Given the description of an element on the screen output the (x, y) to click on. 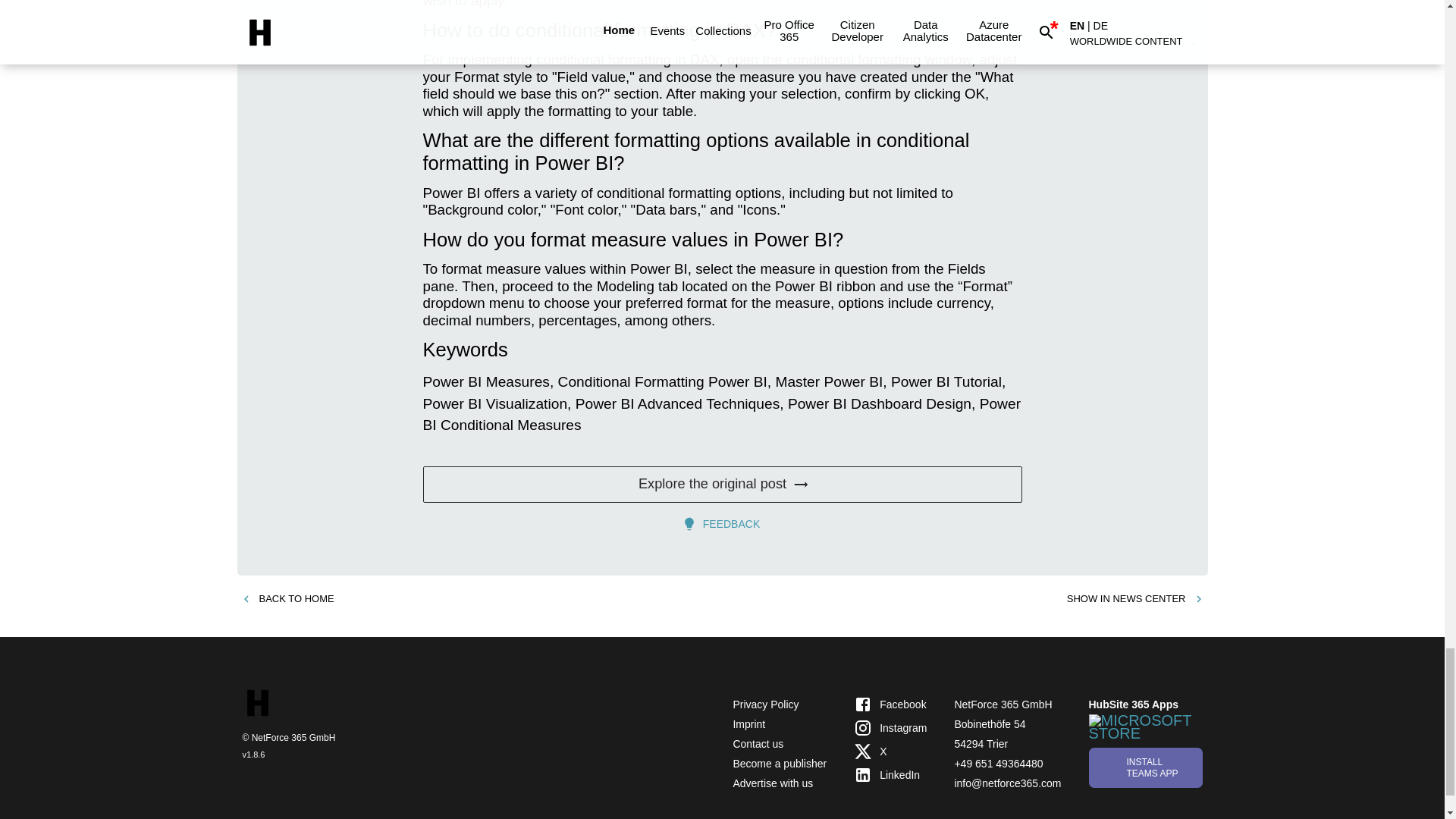
X (889, 751)
SHOW IN NEWS CENTER (1135, 599)
Become a publisher (779, 763)
INSTALL TEAMS APP (1145, 767)
Facebook (889, 704)
Advertise with us (772, 783)
LinkedIn (889, 774)
Install app (1145, 767)
Contact us (757, 743)
Privacy Policy (764, 704)
